Given the description of an element on the screen output the (x, y) to click on. 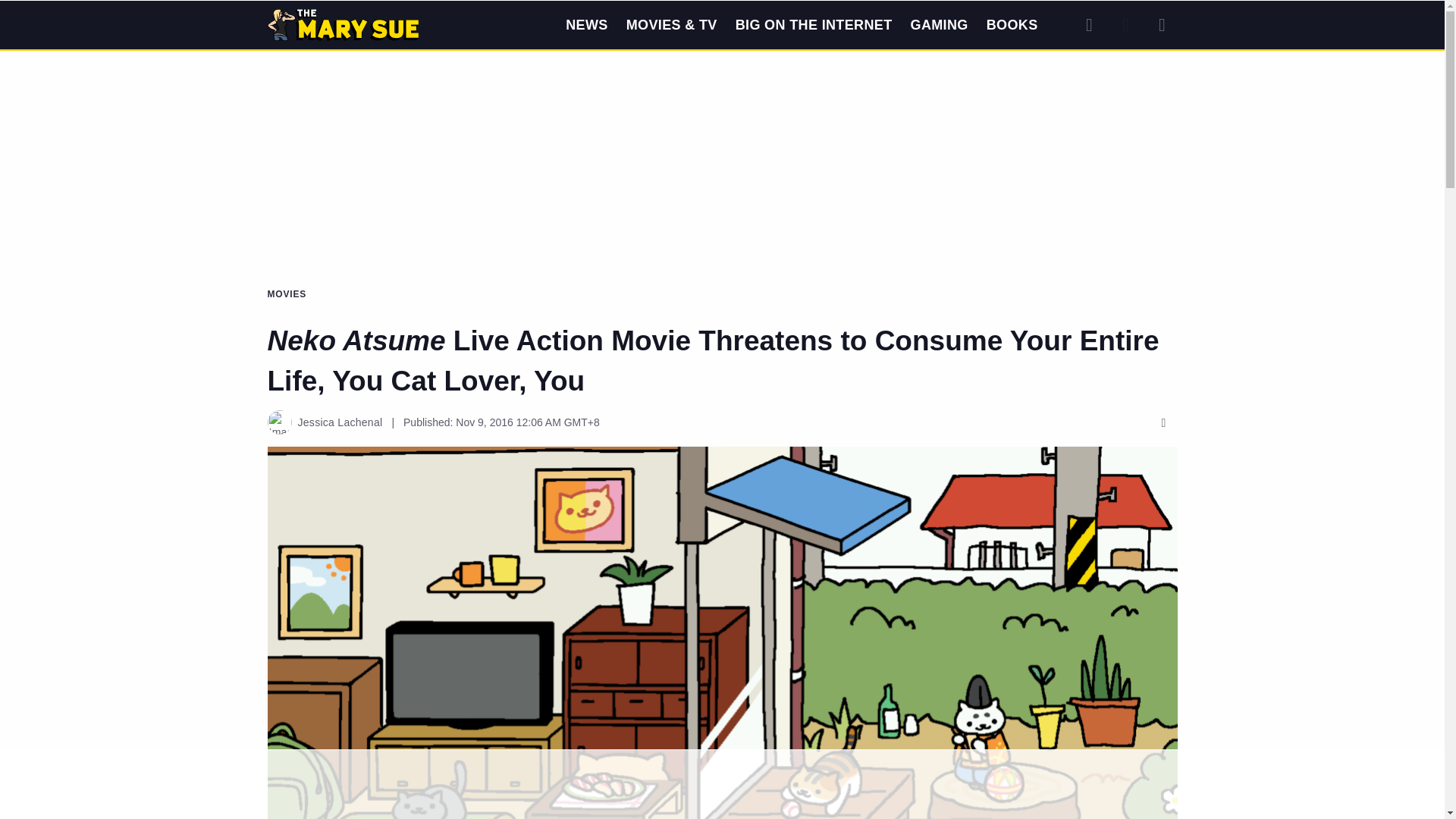
NEWS (586, 24)
Search (1088, 24)
BIG ON THE INTERNET (813, 24)
BOOKS (1012, 24)
3rd party ad content (721, 109)
3rd party ad content (721, 785)
Dark Mode (1124, 24)
Expand Menu (1161, 24)
GAMING (939, 24)
